Given the description of an element on the screen output the (x, y) to click on. 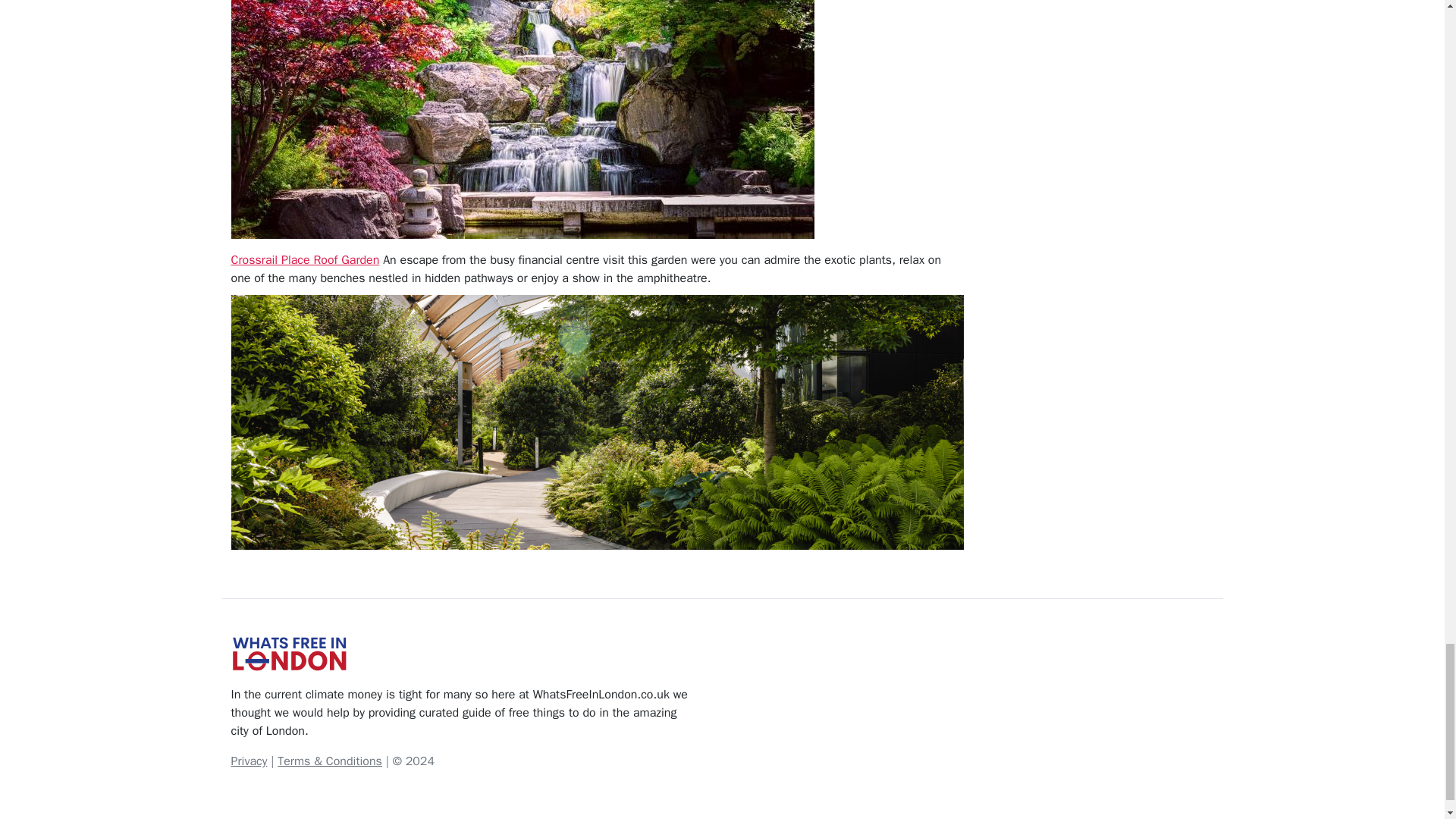
Crossrail Place Roof Garden (304, 259)
Privacy (248, 761)
Crossrail Place Roof Garden (304, 259)
